Given the description of an element on the screen output the (x, y) to click on. 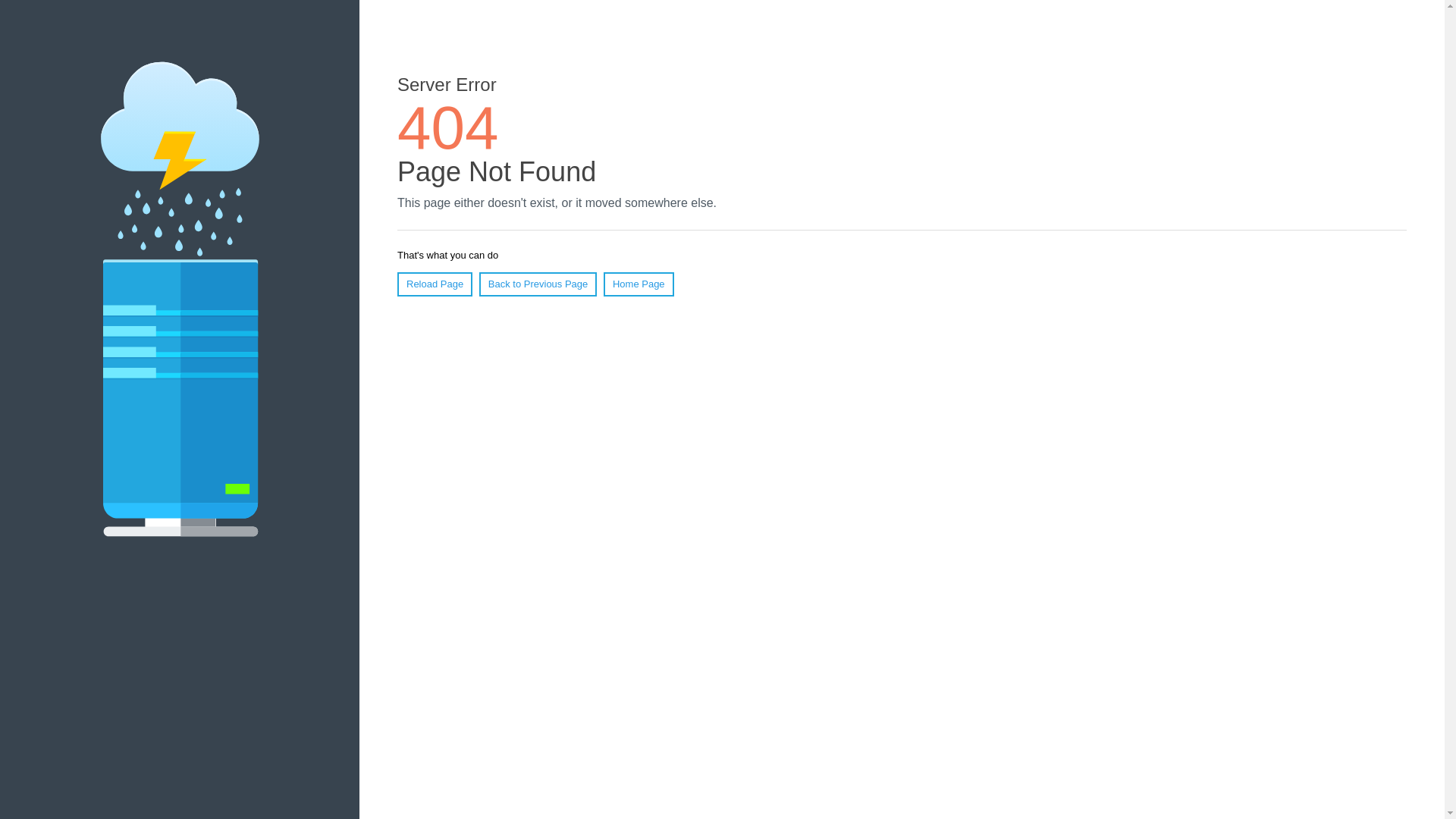
Back to Previous Page Element type: text (538, 284)
Reload Page Element type: text (434, 284)
Home Page Element type: text (638, 284)
